Given the description of an element on the screen output the (x, y) to click on. 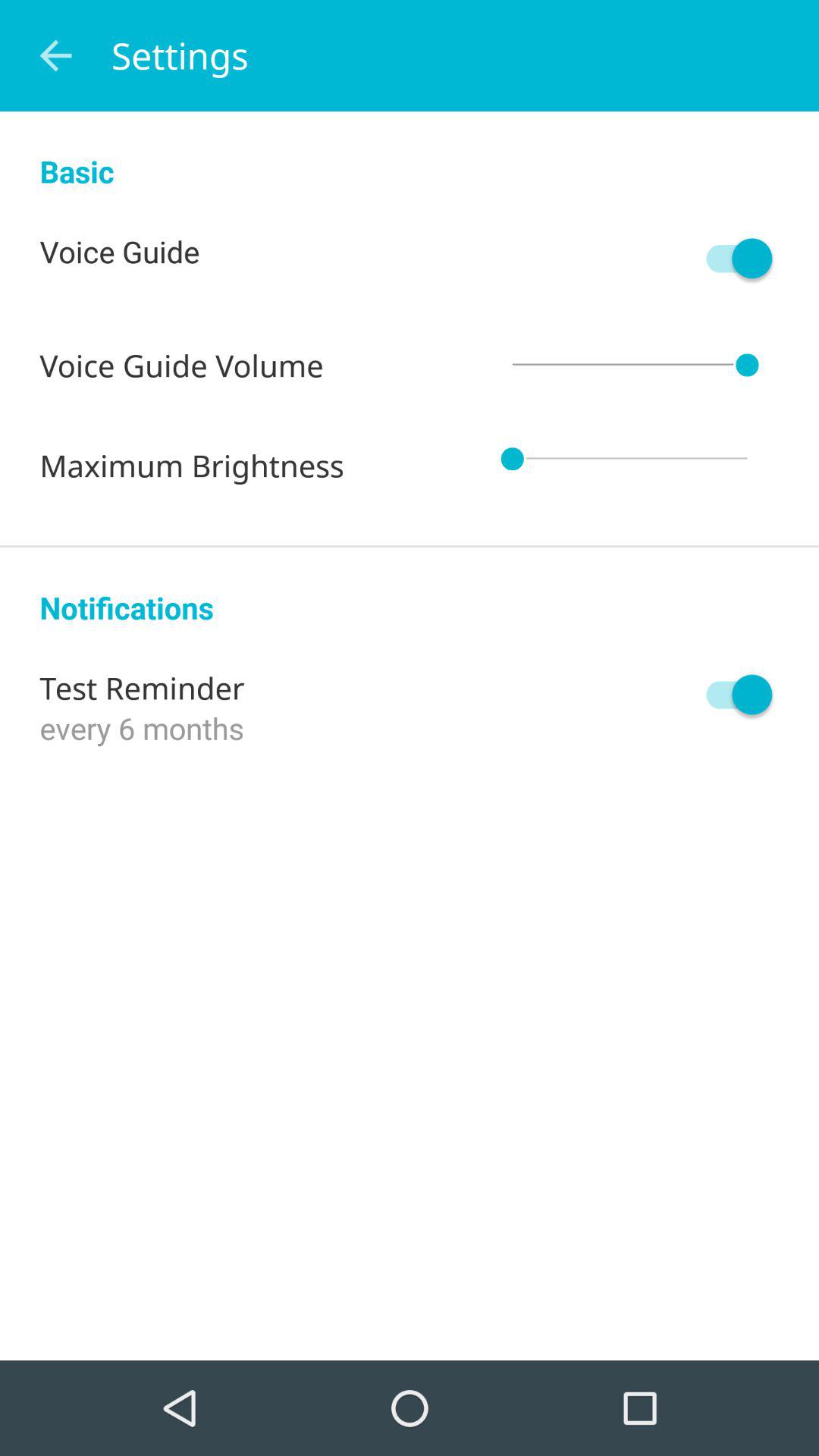
the notification area describe the test reminder in every 6 months before that we have to toggle (731, 694)
